Given the description of an element on the screen output the (x, y) to click on. 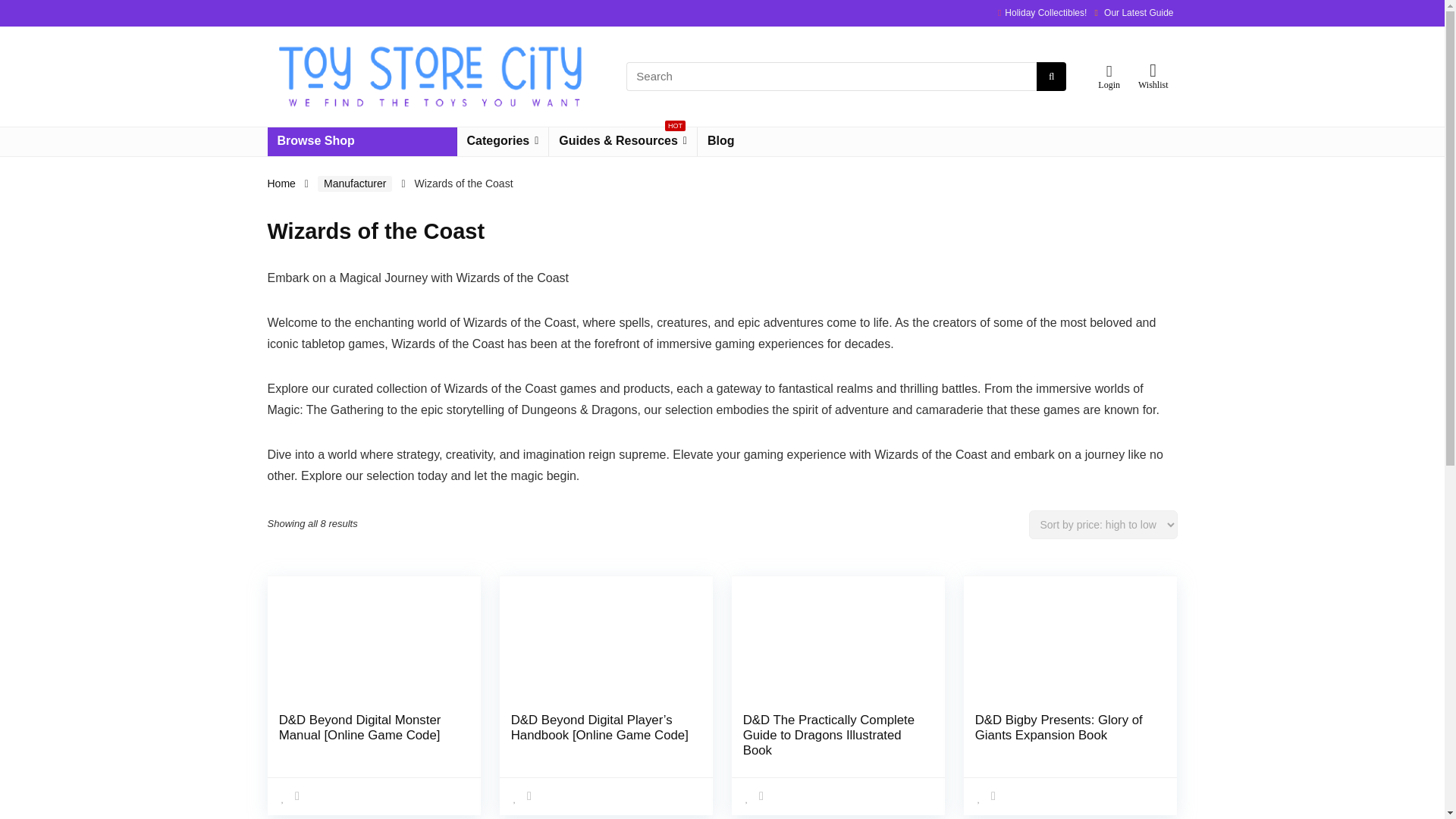
Browse Shop (360, 141)
Categories (502, 141)
Holiday Collectibles! (1045, 12)
Our Latest Guide (1138, 12)
